Given the description of an element on the screen output the (x, y) to click on. 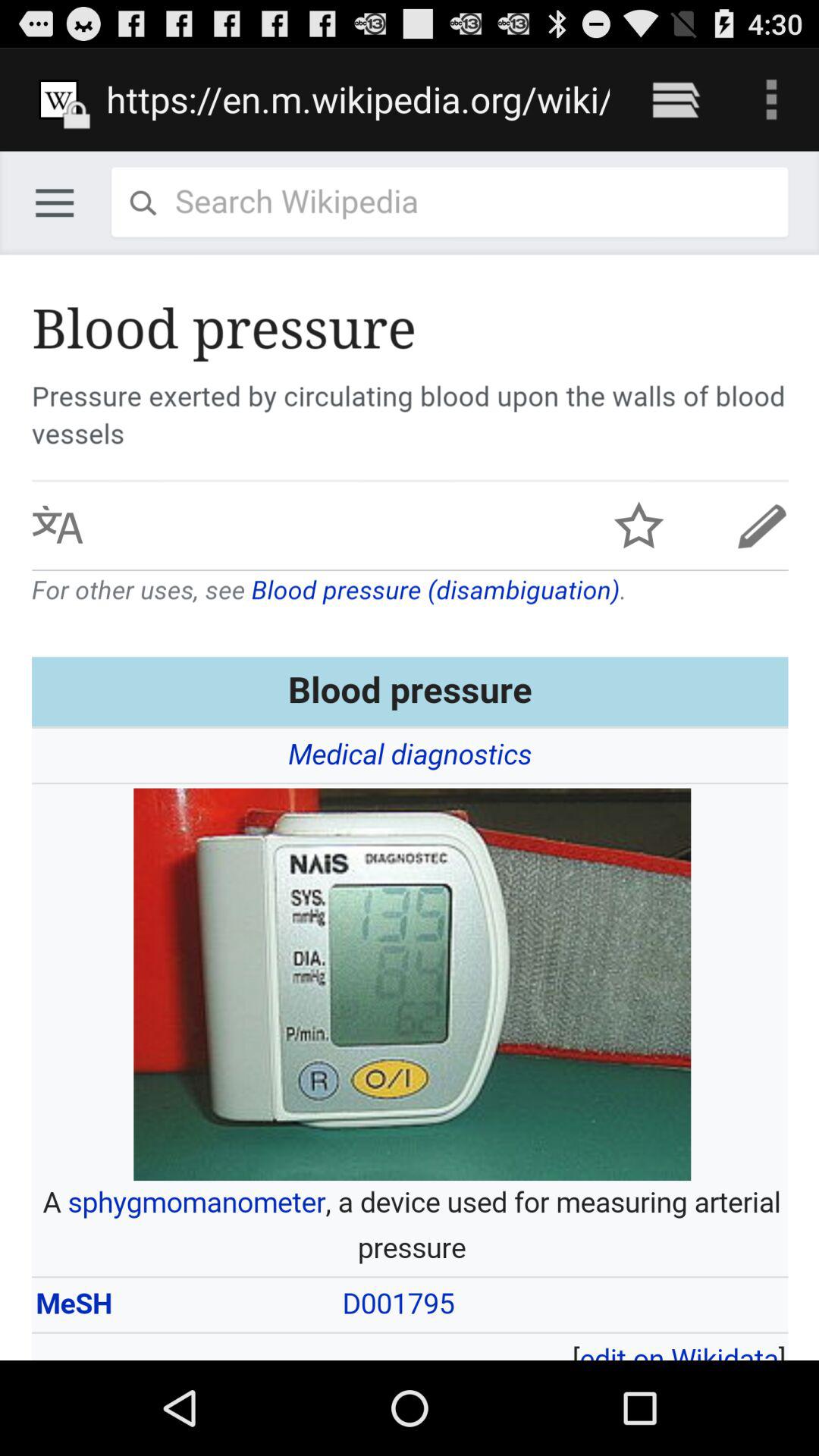
open the icon to the right of the https en m (675, 99)
